Given the description of an element on the screen output the (x, y) to click on. 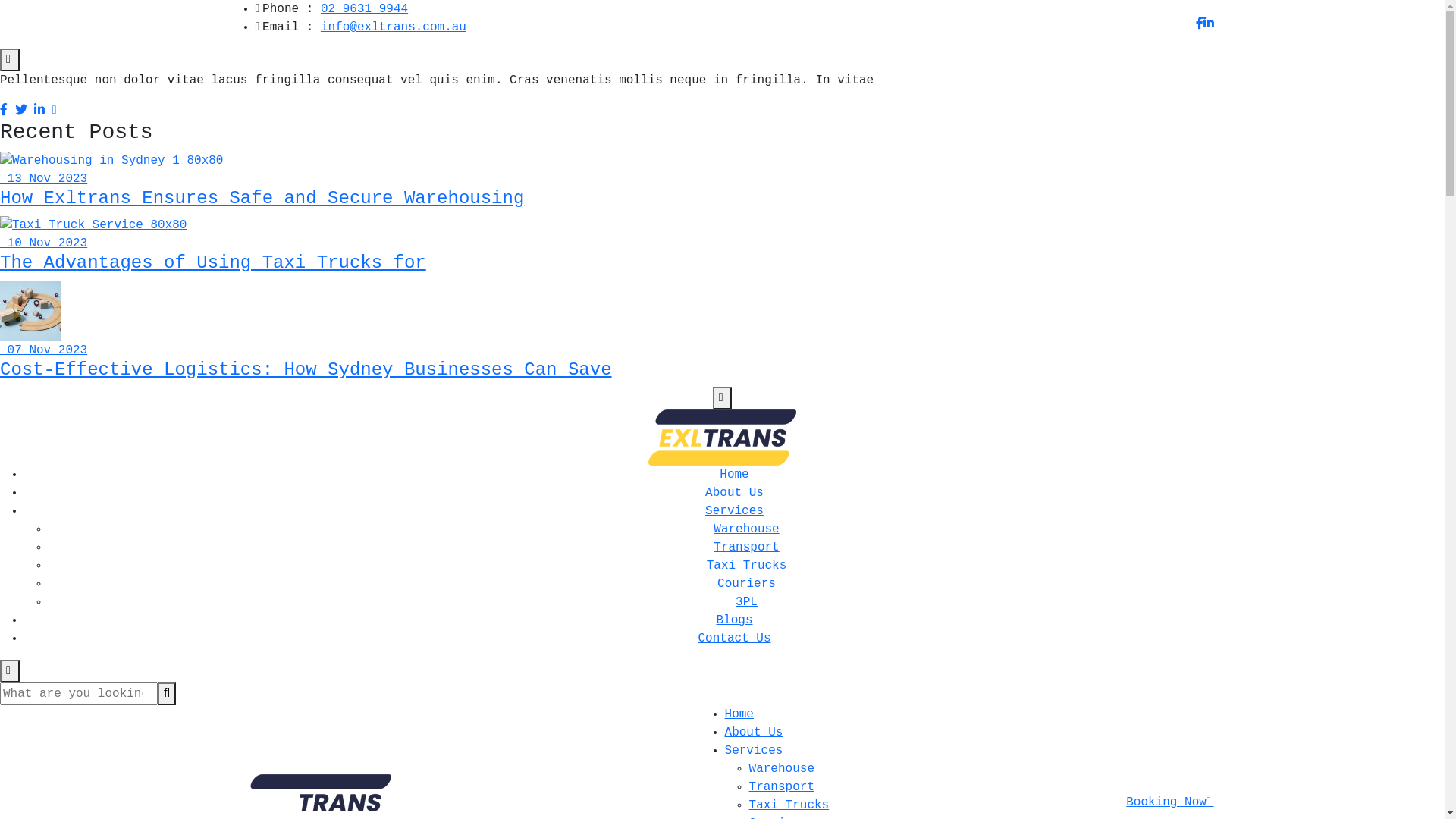
Taxi Trucks Element type: text (789, 805)
Home Element type: text (733, 474)
Services Element type: text (753, 750)
Transport Element type: text (745, 547)
Cost-Effective Logistics: How Sydney Businesses Can Save Element type: text (305, 369)
Booking Now Element type: text (1169, 802)
About Us Element type: text (753, 732)
02 9631 9944 Element type: text (363, 8)
07 Nov 2023 Element type: text (43, 350)
Warehouse Element type: text (745, 529)
Contact Us Element type: text (733, 638)
Blogs Element type: text (733, 620)
The Advantages of Using Taxi Trucks for Element type: text (213, 262)
Transport Element type: text (781, 786)
Services Element type: text (734, 510)
13 Nov 2023 Element type: text (43, 178)
10 Nov 2023 Element type: text (43, 243)
How Exltrans Ensures Safe and Secure Warehousing Element type: text (262, 198)
Taxi Trucks Element type: text (746, 565)
Couriers Element type: text (746, 583)
info@exltrans.com.au Element type: text (393, 27)
Home Element type: text (738, 714)
Warehouse Element type: text (781, 768)
3PL Element type: text (746, 601)
About Us Element type: text (734, 492)
